Given the description of an element on the screen output the (x, y) to click on. 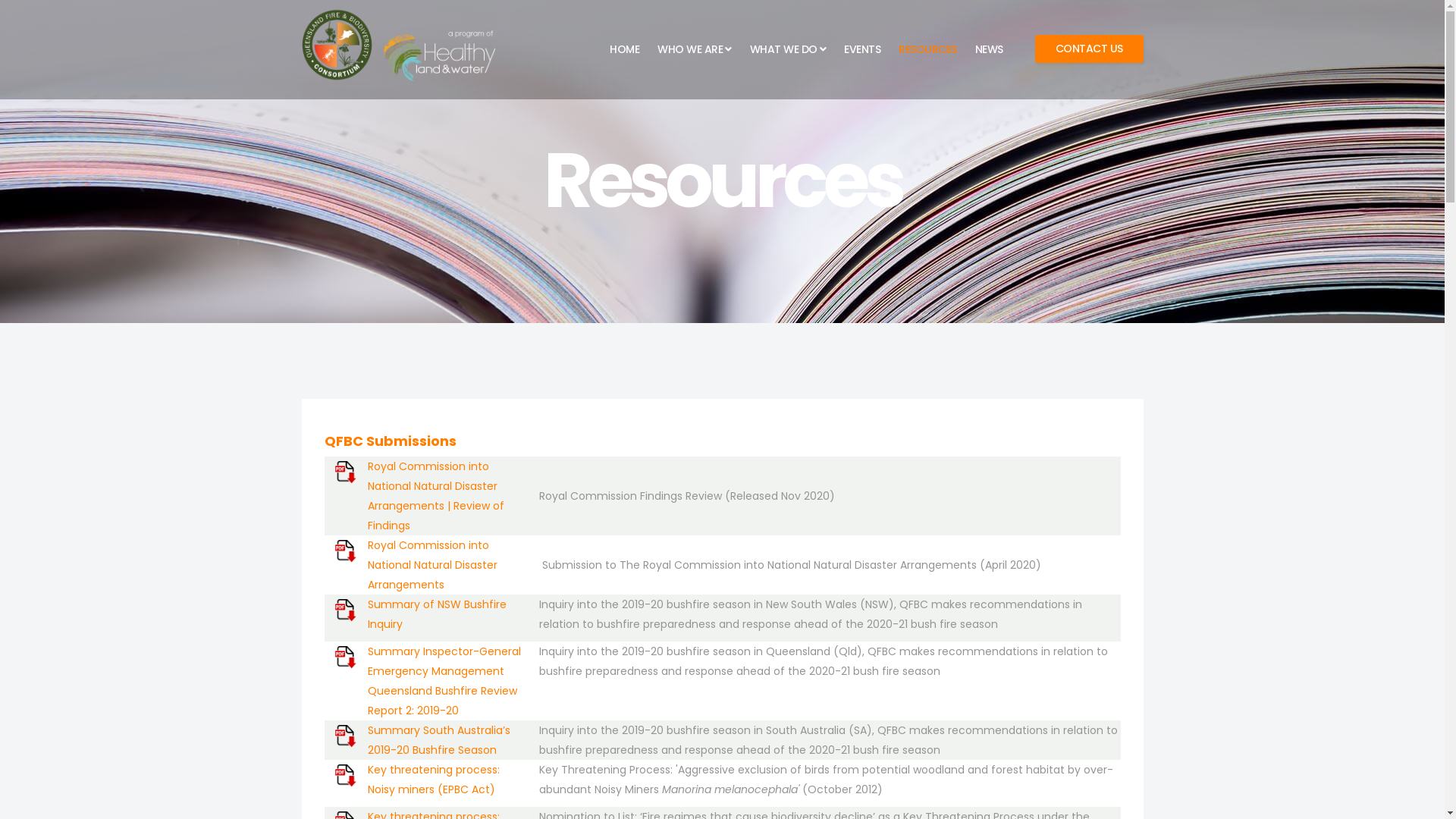
Royal Commission into National Natural Disaster Arrangements Element type: text (432, 564)
HOME Element type: text (624, 49)
RESOURCES Element type: text (927, 49)
CONTACT US Element type: text (1088, 48)
Key threatening process: Noisy miners (EPBC Act) Element type: text (433, 779)
NEWS Element type: text (989, 49)
EVENTS Element type: text (861, 49)
WHAT WE DO Element type: text (787, 49)
Summary of NSW Bushfire Inquiry Element type: text (436, 613)
WHO WE ARE Element type: text (694, 49)
